Given the description of an element on the screen output the (x, y) to click on. 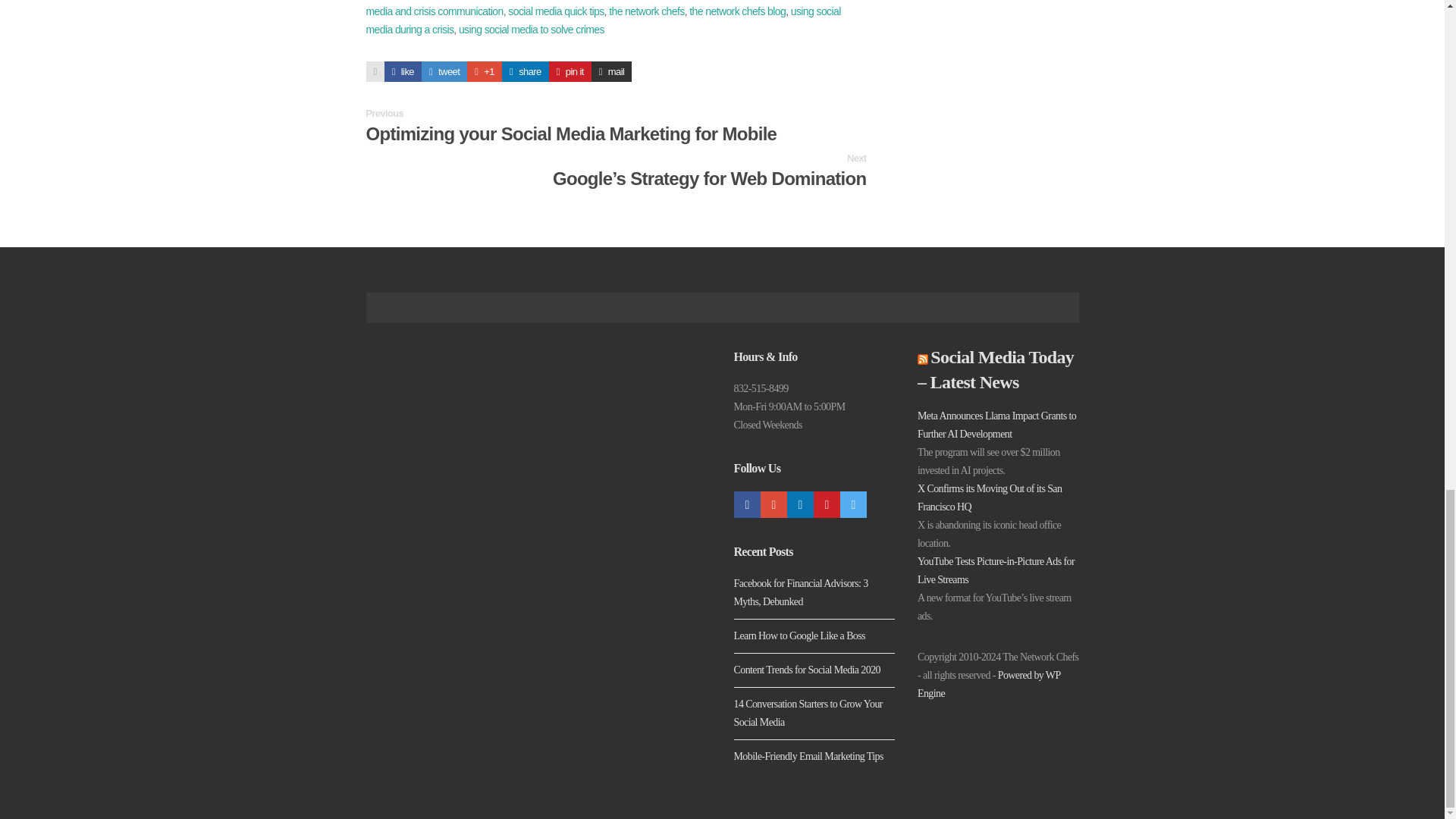
How Social Media Contributes to Society (444, 71)
How Social Media Contributes to Society (403, 71)
How Social Media Contributes to Society (525, 71)
How Social Media Contributes to Society (484, 71)
